Given the description of an element on the screen output the (x, y) to click on. 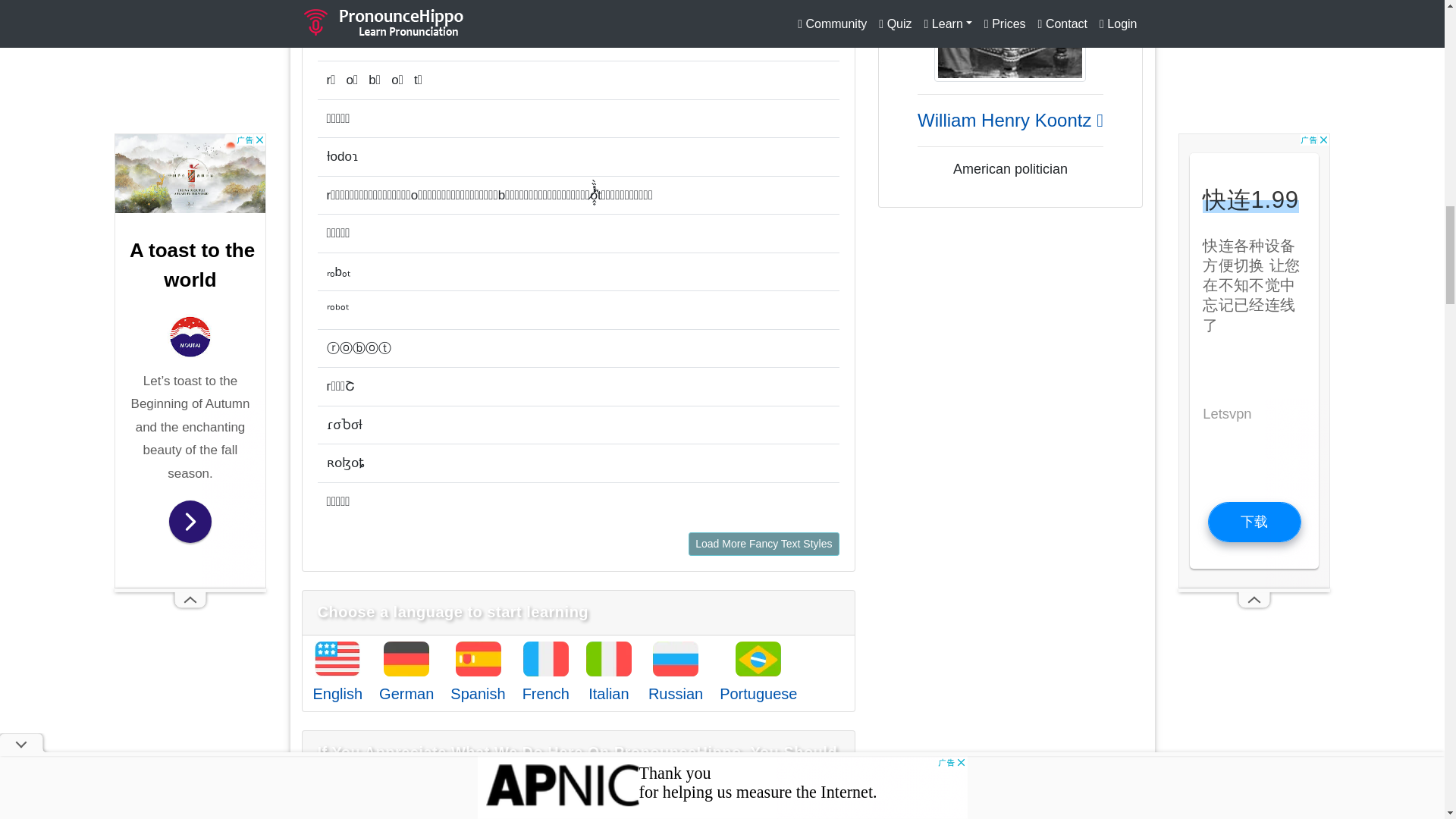
French (545, 693)
Portuguese (757, 693)
English (337, 693)
German (405, 693)
Italian (608, 693)
Russian (675, 693)
Load More Fancy Text Styles (763, 544)
Spanish (477, 693)
